Given the description of an element on the screen output the (x, y) to click on. 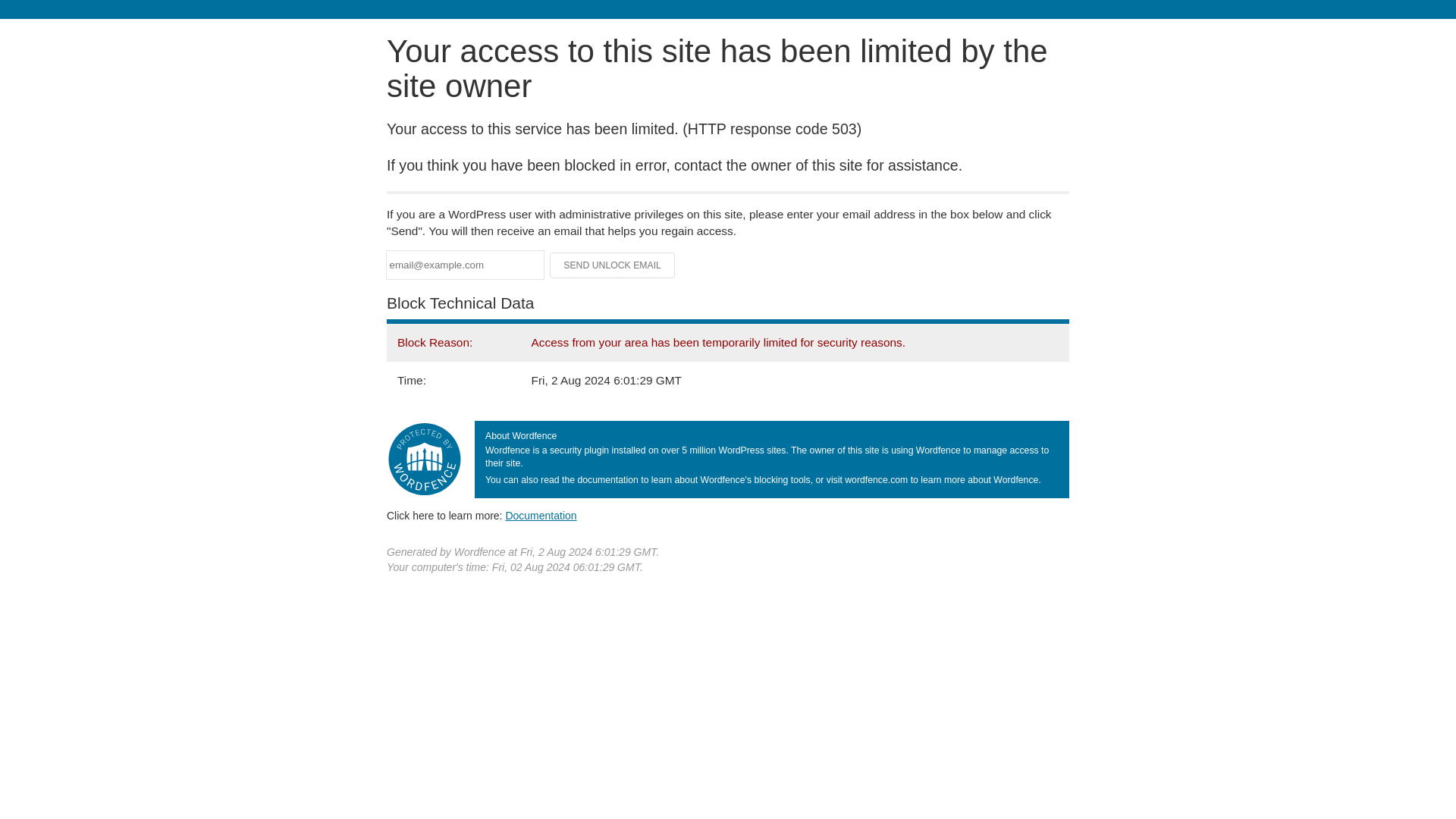
Documentation (540, 515)
Send Unlock Email (612, 265)
Send Unlock Email (612, 265)
